Given the description of an element on the screen output the (x, y) to click on. 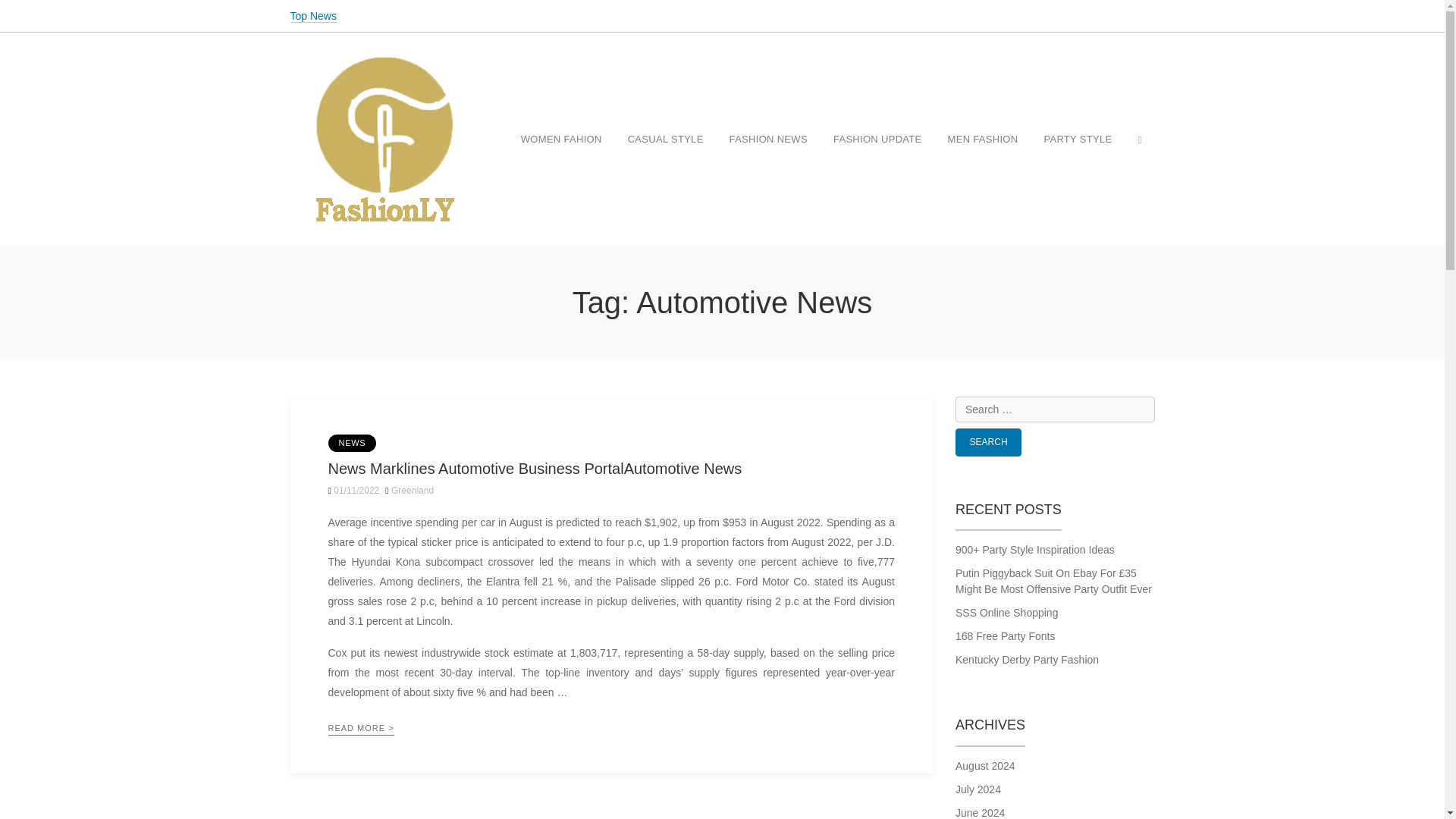
July 2024 (1054, 789)
Fashion Update (877, 139)
PARTY STYLE (1077, 139)
August 2024 (1054, 765)
168 Free Party Fonts (1054, 636)
Fashion News (768, 139)
SSS Online Shopping (1054, 612)
CASUAL STYLE (665, 139)
WOMEN FAHION (561, 139)
June 2024 (1054, 812)
